Given the description of an element on the screen output the (x, y) to click on. 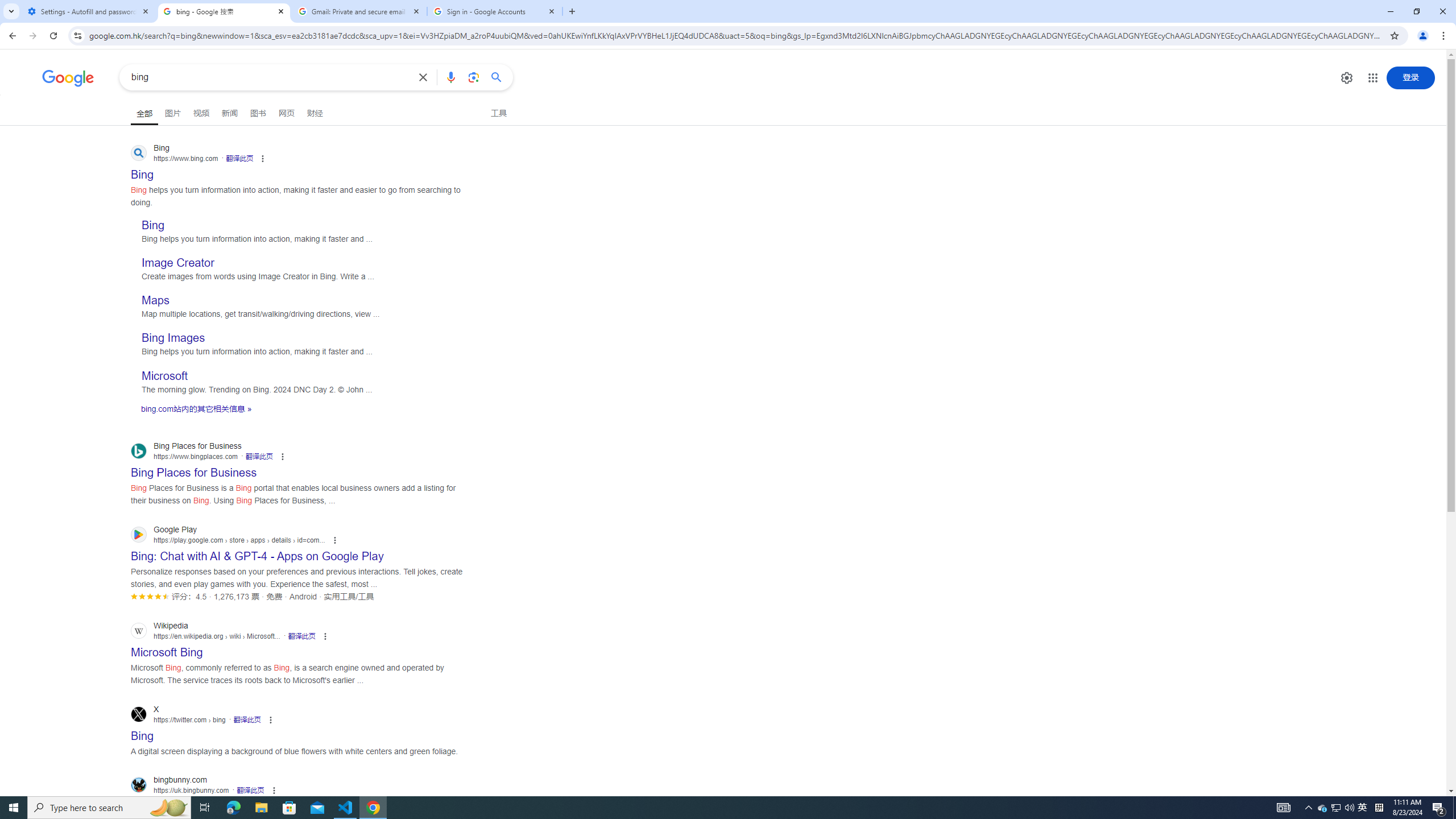
Microsoft (164, 375)
